Given the description of an element on the screen output the (x, y) to click on. 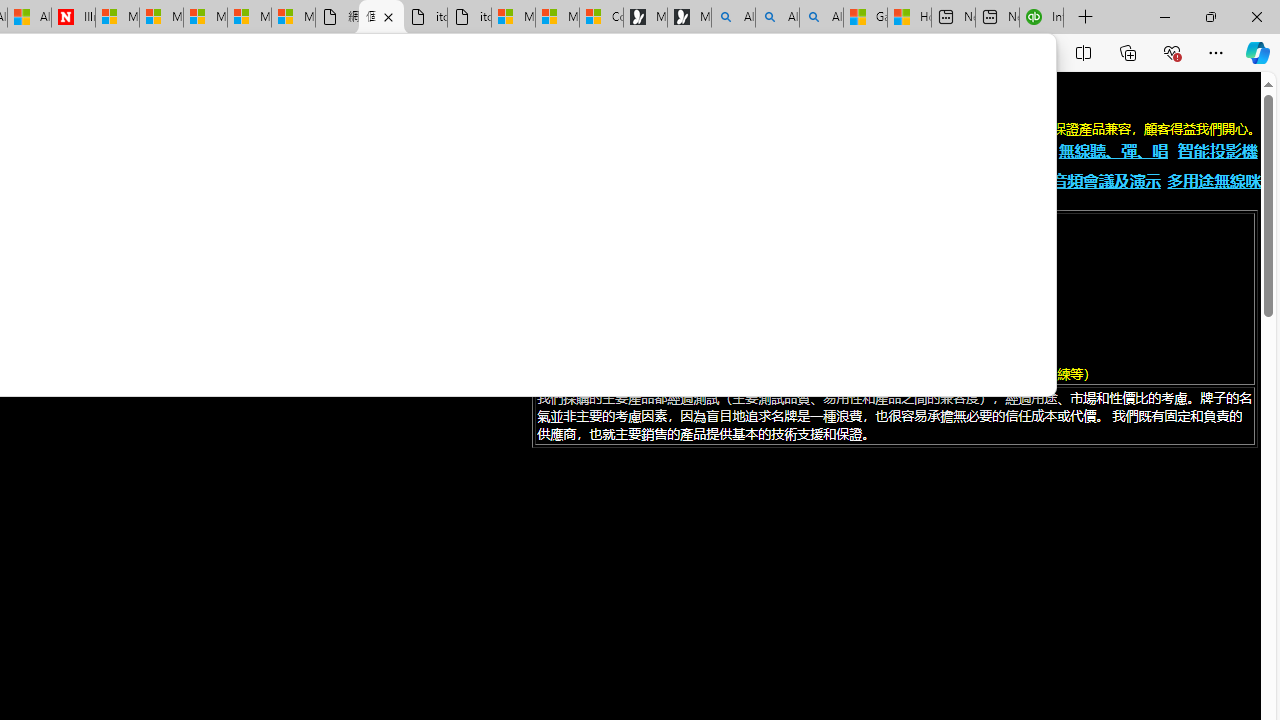
Illness news & latest pictures from Newsweek.com (73, 17)
Intuit QuickBooks Online - Quickbooks (1041, 17)
Consumer Health Data Privacy Policy (601, 17)
